Given the description of an element on the screen output the (x, y) to click on. 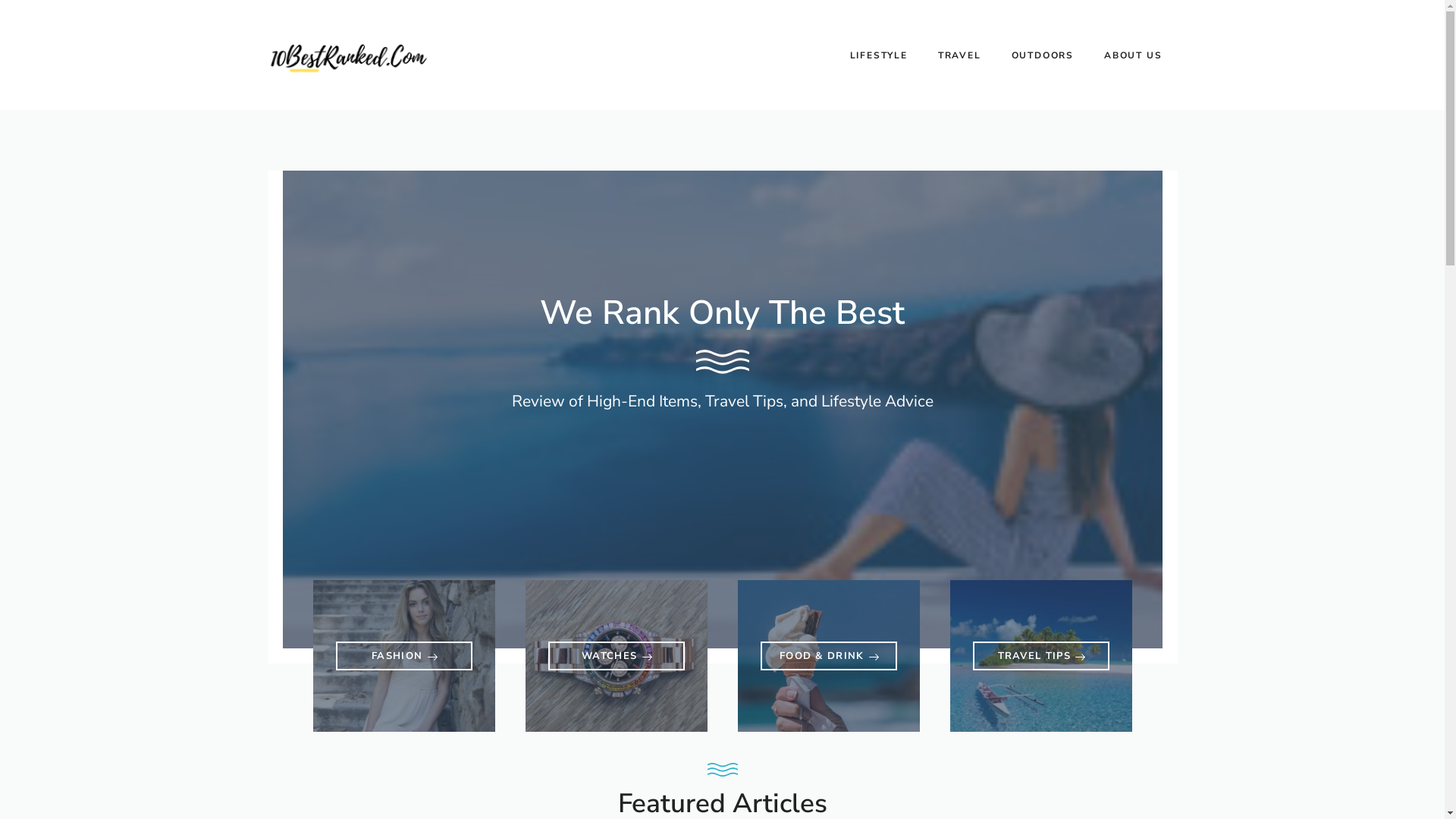
OUTDOORS Element type: text (1042, 54)
LIFESTYLE Element type: text (878, 54)
FASHION Element type: text (403, 655)
TRAVEL Element type: text (959, 54)
WATCHES Element type: text (615, 655)
TRAVEL TIPS Element type: text (1040, 655)
FOOD & DRINK Element type: text (827, 655)
ABOUT US Element type: text (1132, 54)
